Given the description of an element on the screen output the (x, y) to click on. 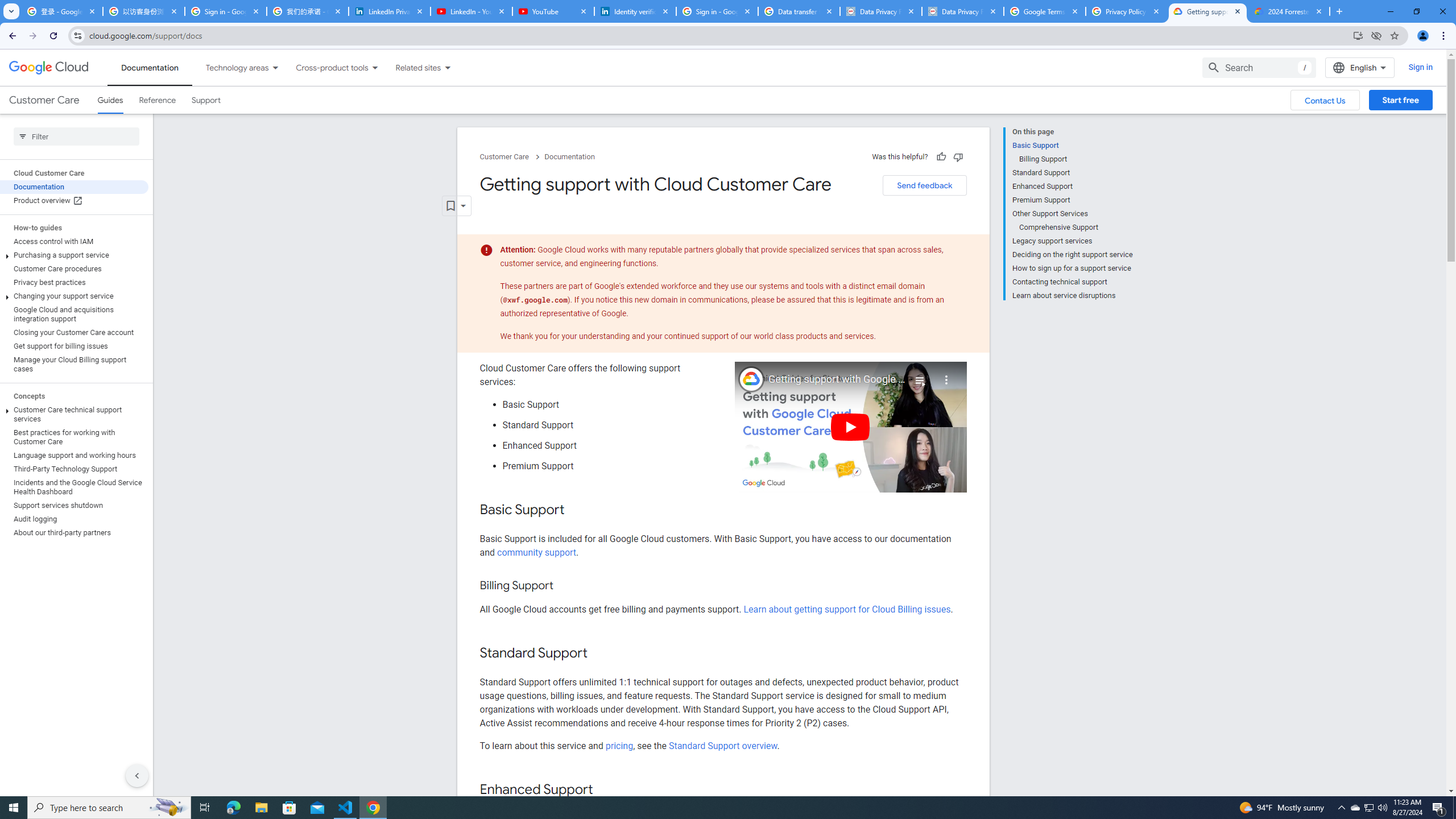
Sign in - Google Accounts (225, 11)
Google Cloud and acquisitions integration support (74, 314)
Learn about service disruptions (1071, 294)
Type to filter (76, 136)
Customer Care technical support services (74, 413)
Contacting technical support (1071, 282)
Technology areas (230, 67)
Documentation, selected (149, 67)
Playlist (919, 375)
Copy link to this section: Enhanced Support (603, 789)
Send feedback (924, 185)
Standard Support (1071, 172)
